Given the description of an element on the screen output the (x, y) to click on. 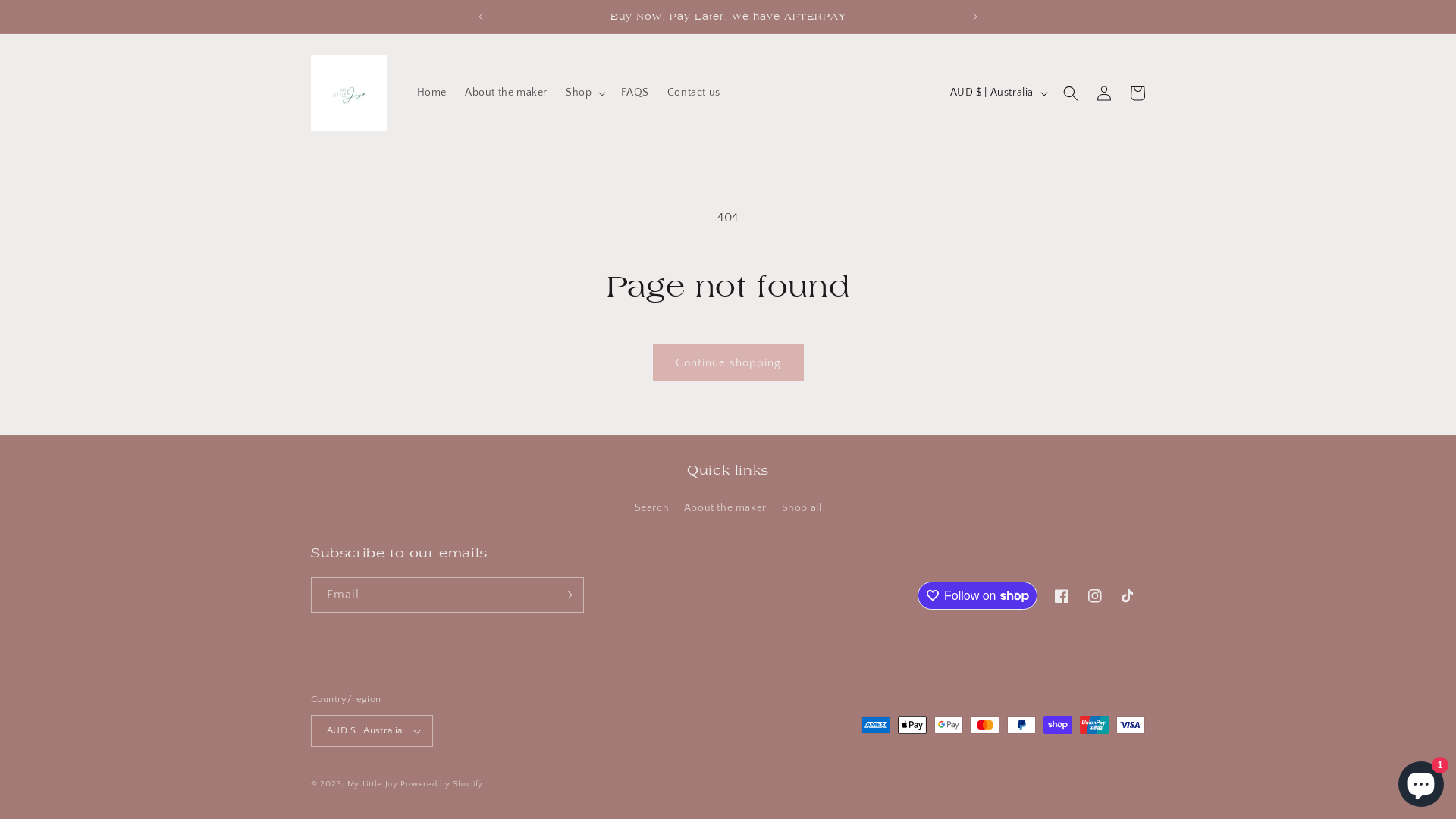
Log in Element type: text (1103, 92)
Home Element type: text (431, 92)
About the maker Element type: text (725, 508)
About the maker Element type: text (505, 92)
Search Element type: text (651, 509)
Powered by Shopify Element type: text (441, 783)
Shop all Element type: text (801, 508)
Contact us Element type: text (693, 92)
My Little Joy Element type: text (372, 783)
AUD $ | Australia Element type: text (997, 93)
TikTok Element type: text (1128, 595)
Shopify online store chat Element type: hover (1420, 780)
Continue shopping Element type: text (727, 362)
AUD $ | Australia Element type: text (371, 730)
FAQS Element type: text (634, 92)
Cart Element type: text (1137, 92)
Facebook Element type: text (1061, 595)
Instagram Element type: text (1094, 595)
